Given the description of an element on the screen output the (x, y) to click on. 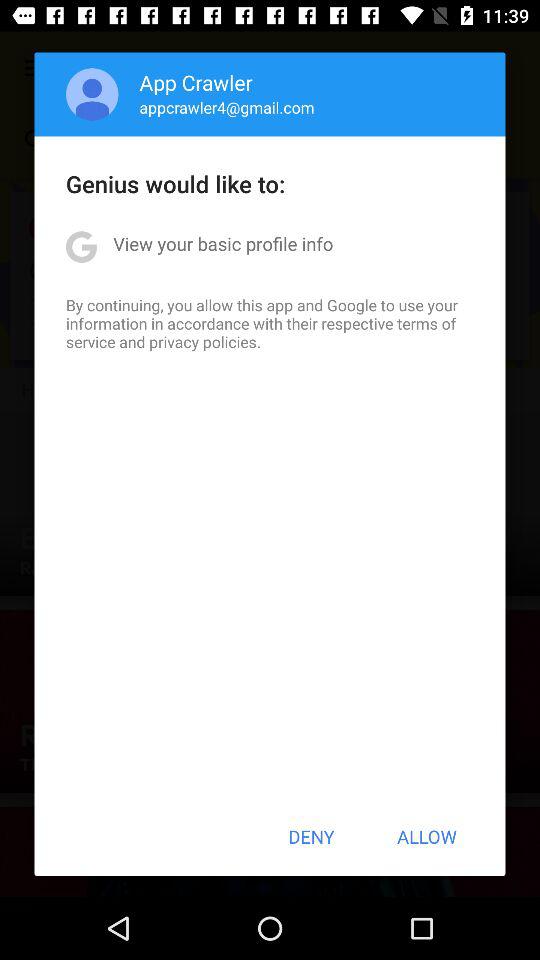
turn on app below the by continuing you icon (311, 836)
